Given the description of an element on the screen output the (x, y) to click on. 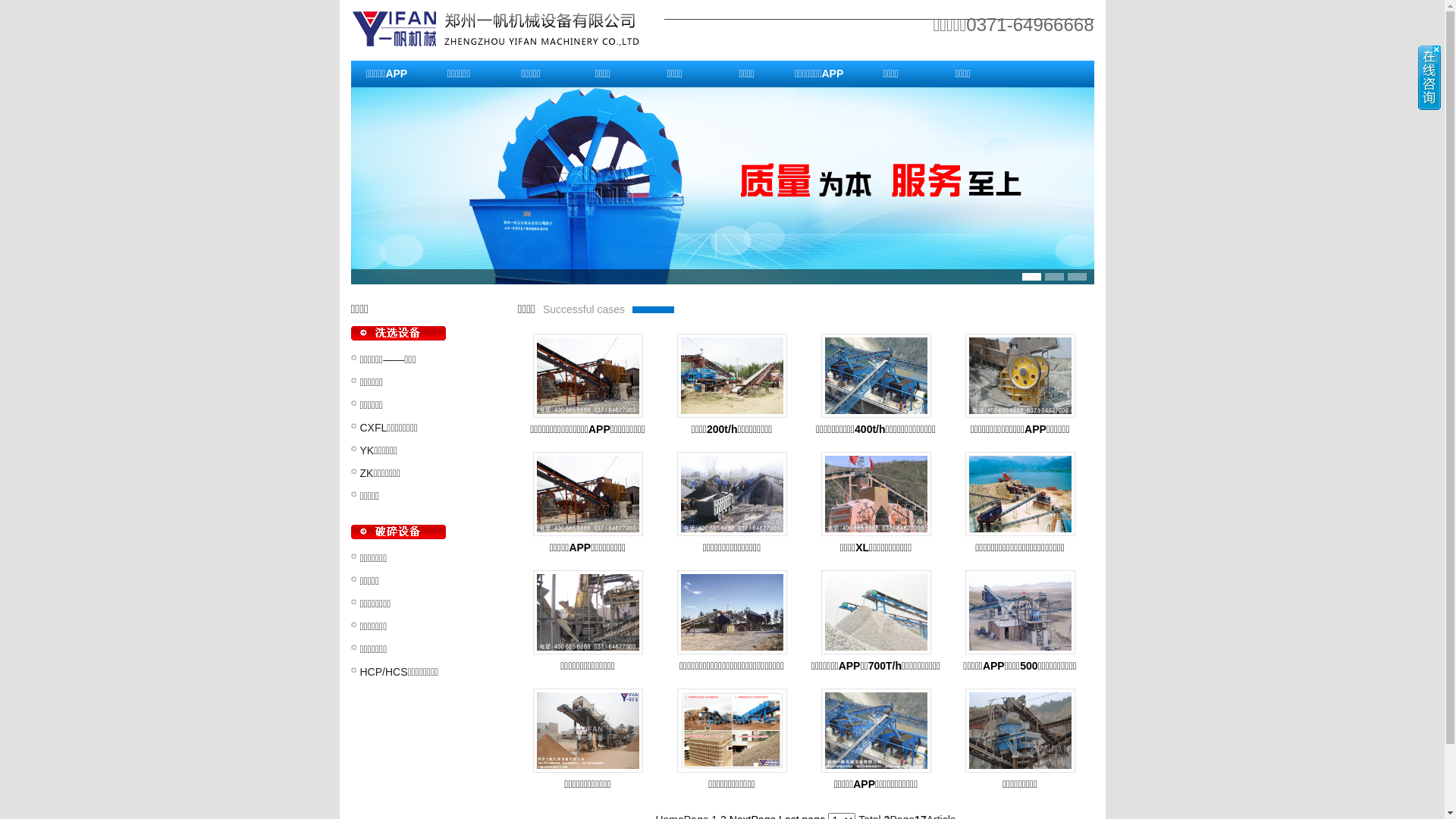
logo Element type: hover (506, 28)
